Given the description of an element on the screen output the (x, y) to click on. 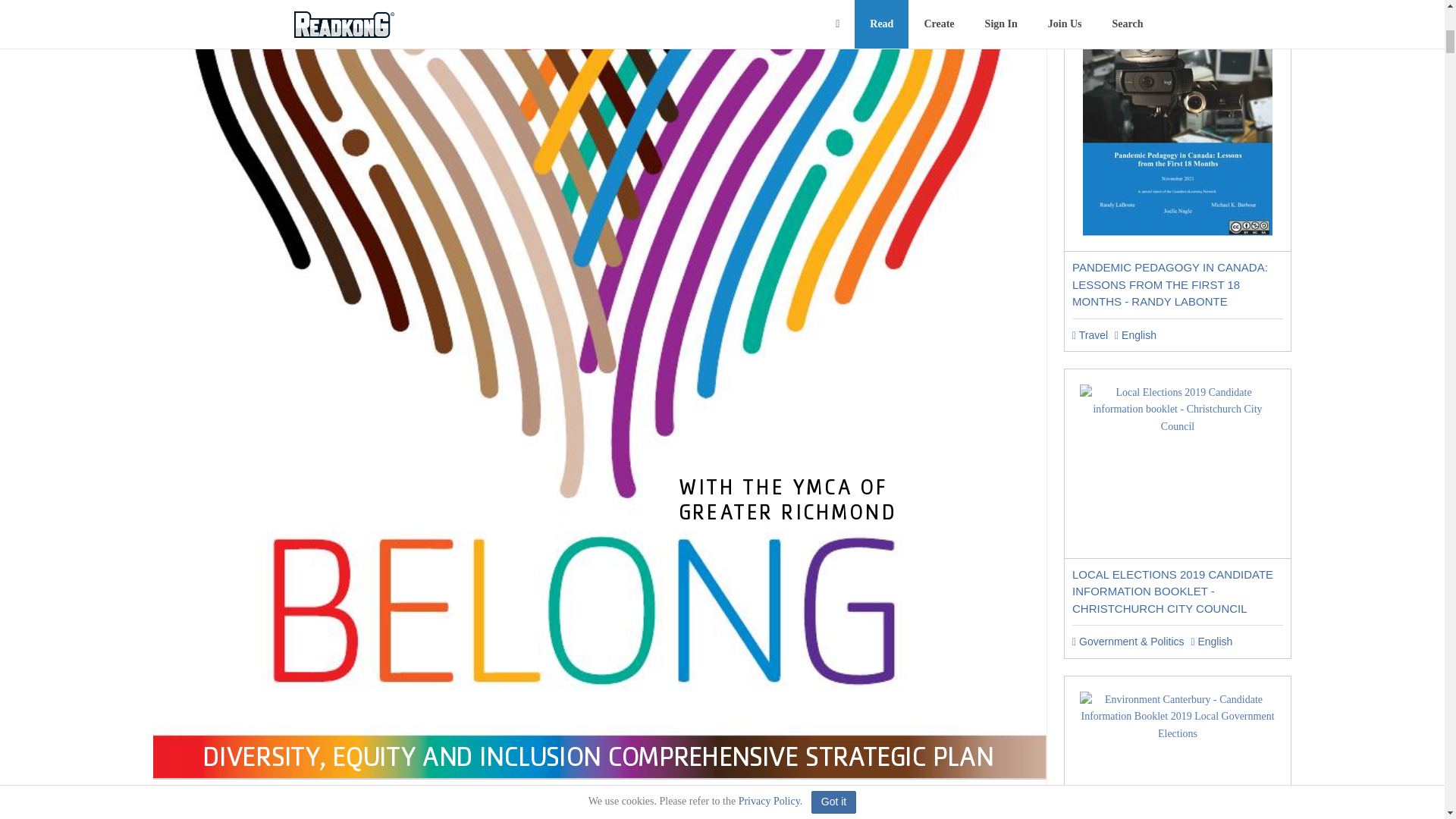
Advertisement (599, 811)
Travel (1089, 335)
English (1135, 335)
